Given the description of an element on the screen output the (x, y) to click on. 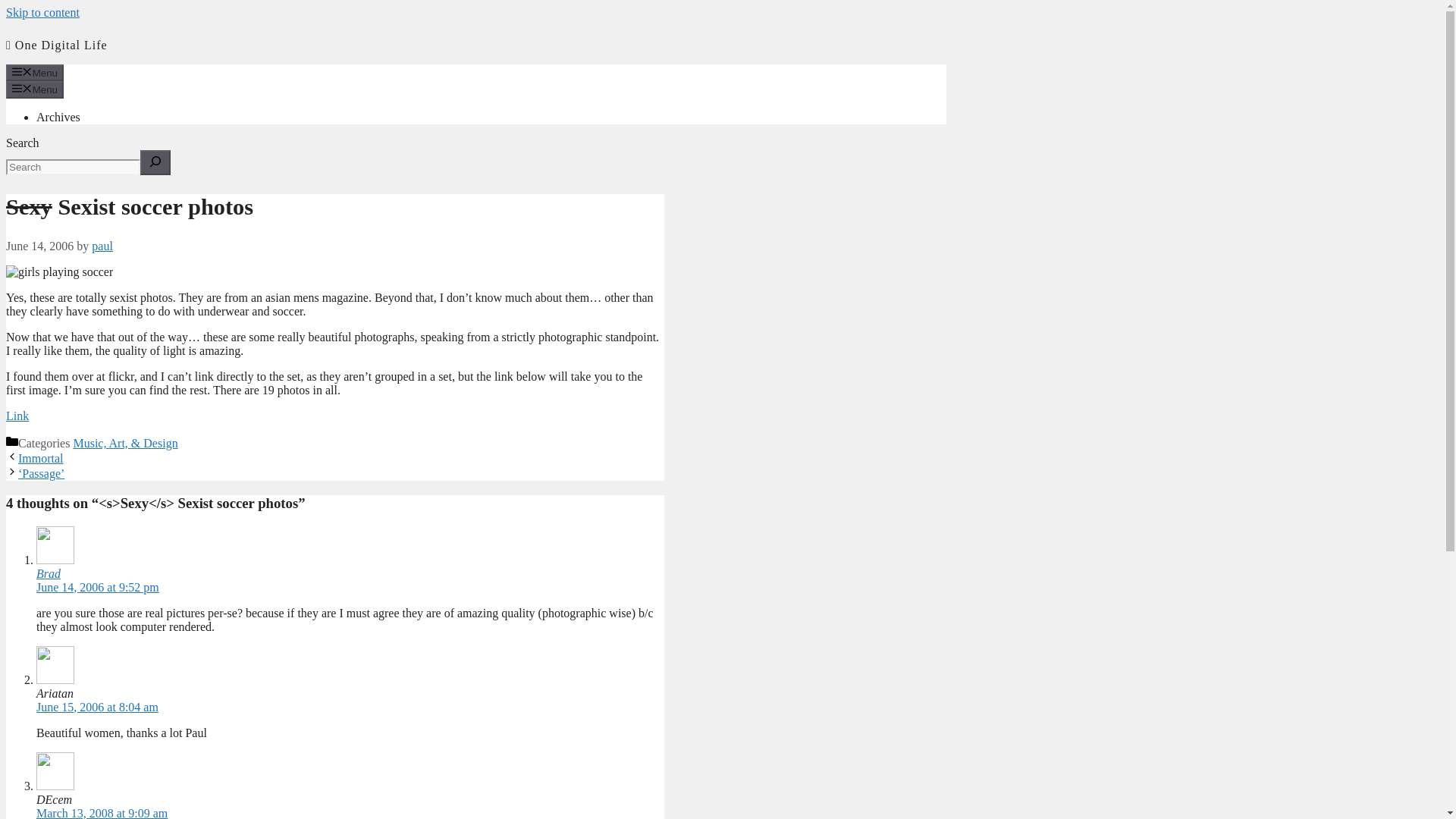
Menu (34, 72)
Skip to content (42, 11)
Archives (58, 116)
View all posts by paul (102, 245)
paul (102, 245)
June 14, 2006 at 9:52 pm (97, 586)
Brad (48, 573)
March 13, 2008 at 9:09 am (101, 812)
Link (17, 415)
Menu (34, 89)
Skip to content (42, 11)
June 15, 2006 at 8:04 am (97, 707)
Immortal (40, 458)
